Given the description of an element on the screen output the (x, y) to click on. 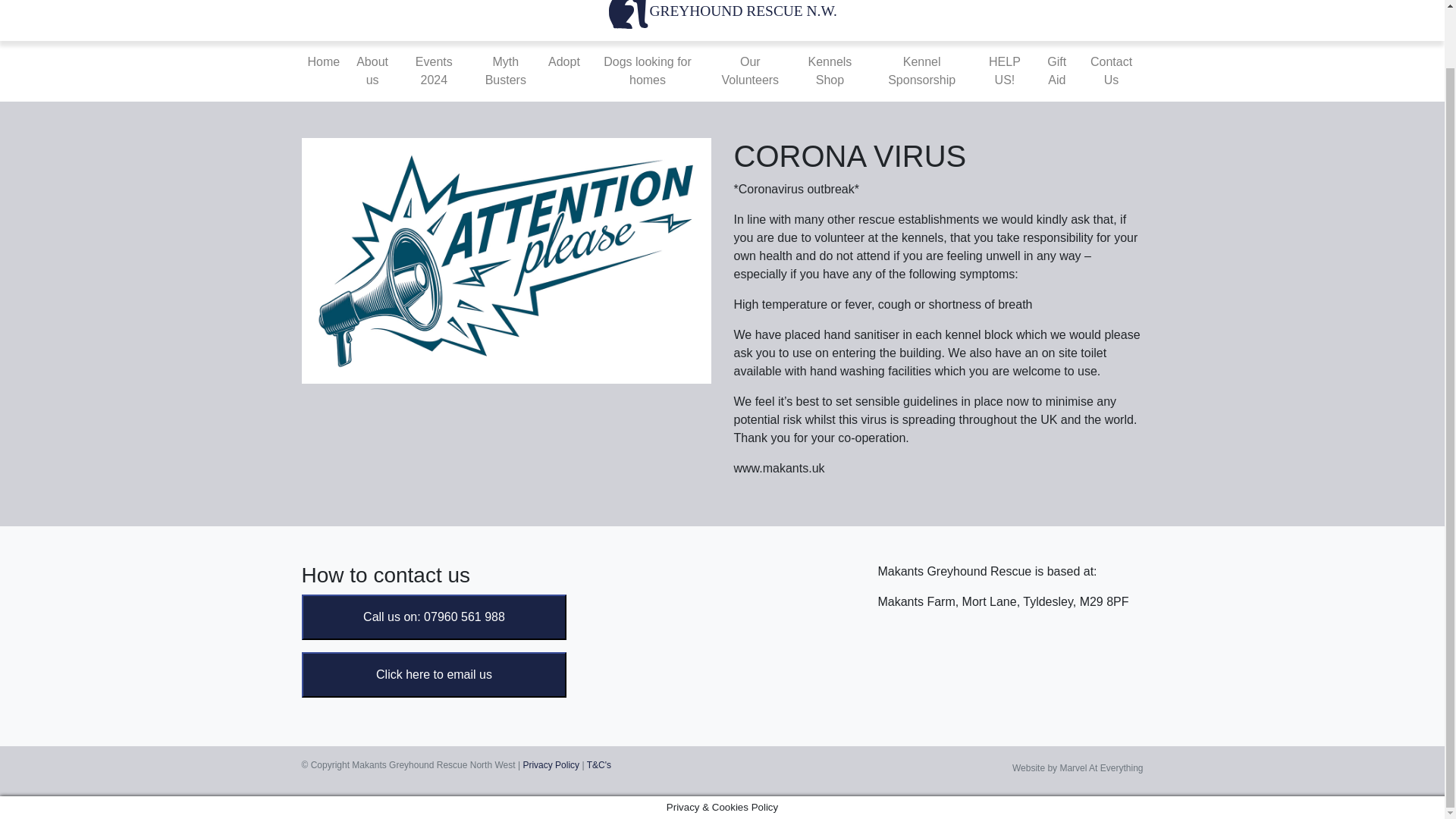
Call us on: 07960 561 988 (434, 616)
Website by Marvel At Everything (1076, 767)
Kennel Sponsorship (920, 70)
Click here to email us (434, 674)
Home (323, 61)
Adopt (563, 61)
Adopt (563, 61)
Events 2024 (433, 70)
Contact Us (1111, 70)
Events 2024 (433, 70)
